Given the description of an element on the screen output the (x, y) to click on. 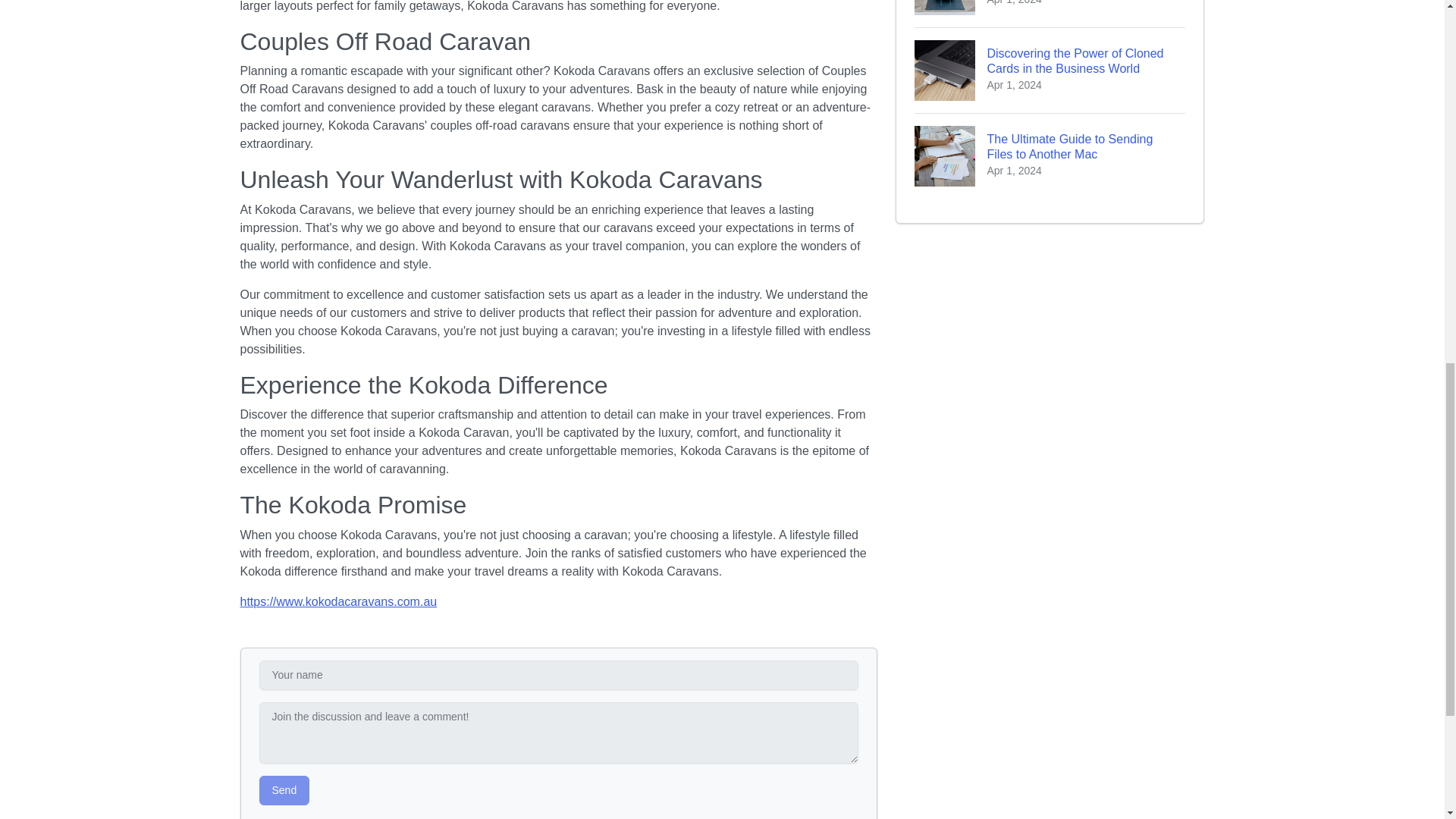
Send (284, 790)
Send (284, 790)
